Given the description of an element on the screen output the (x, y) to click on. 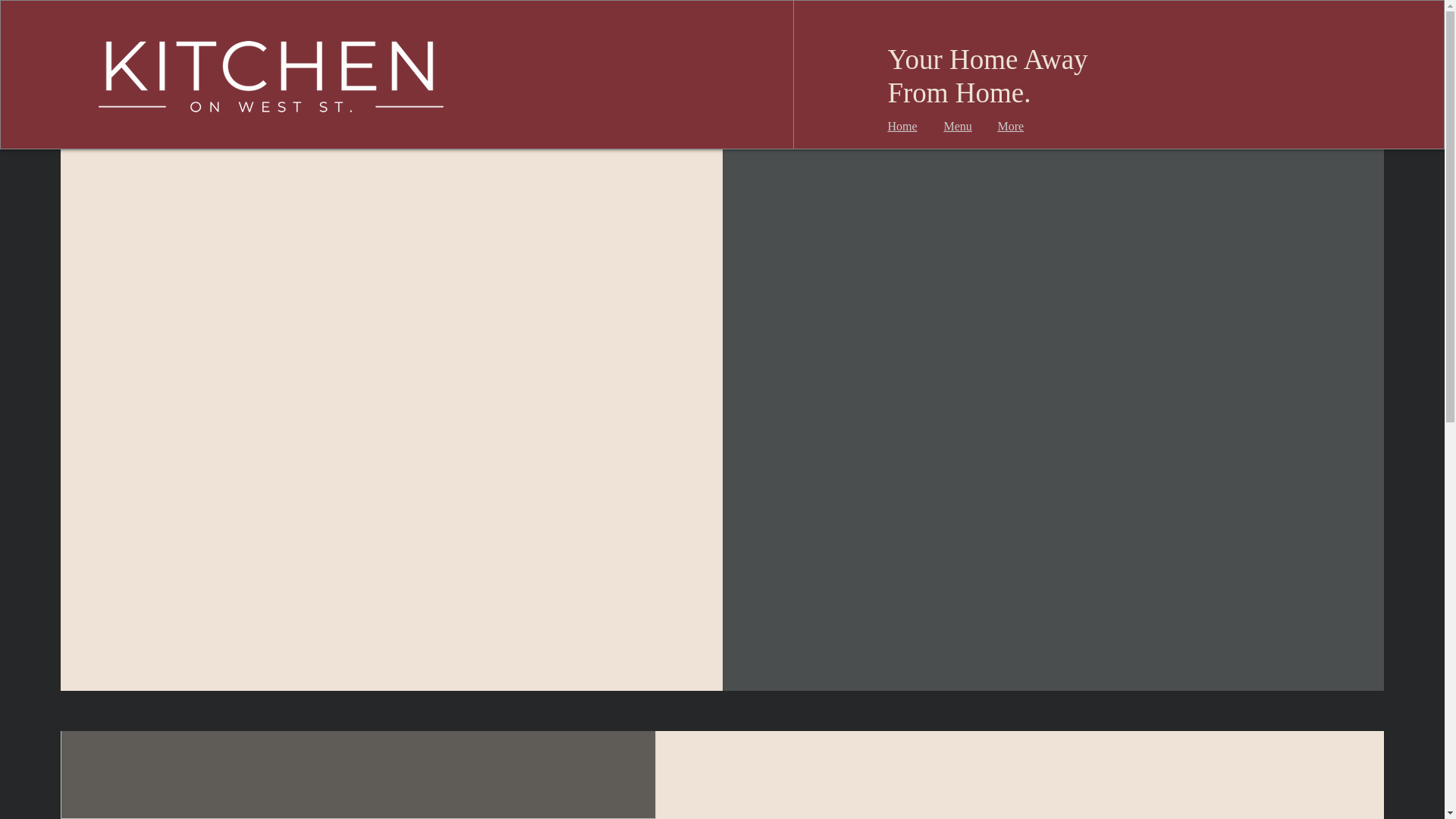
Home (901, 125)
Menu (957, 125)
More (1010, 125)
